Given the description of an element on the screen output the (x, y) to click on. 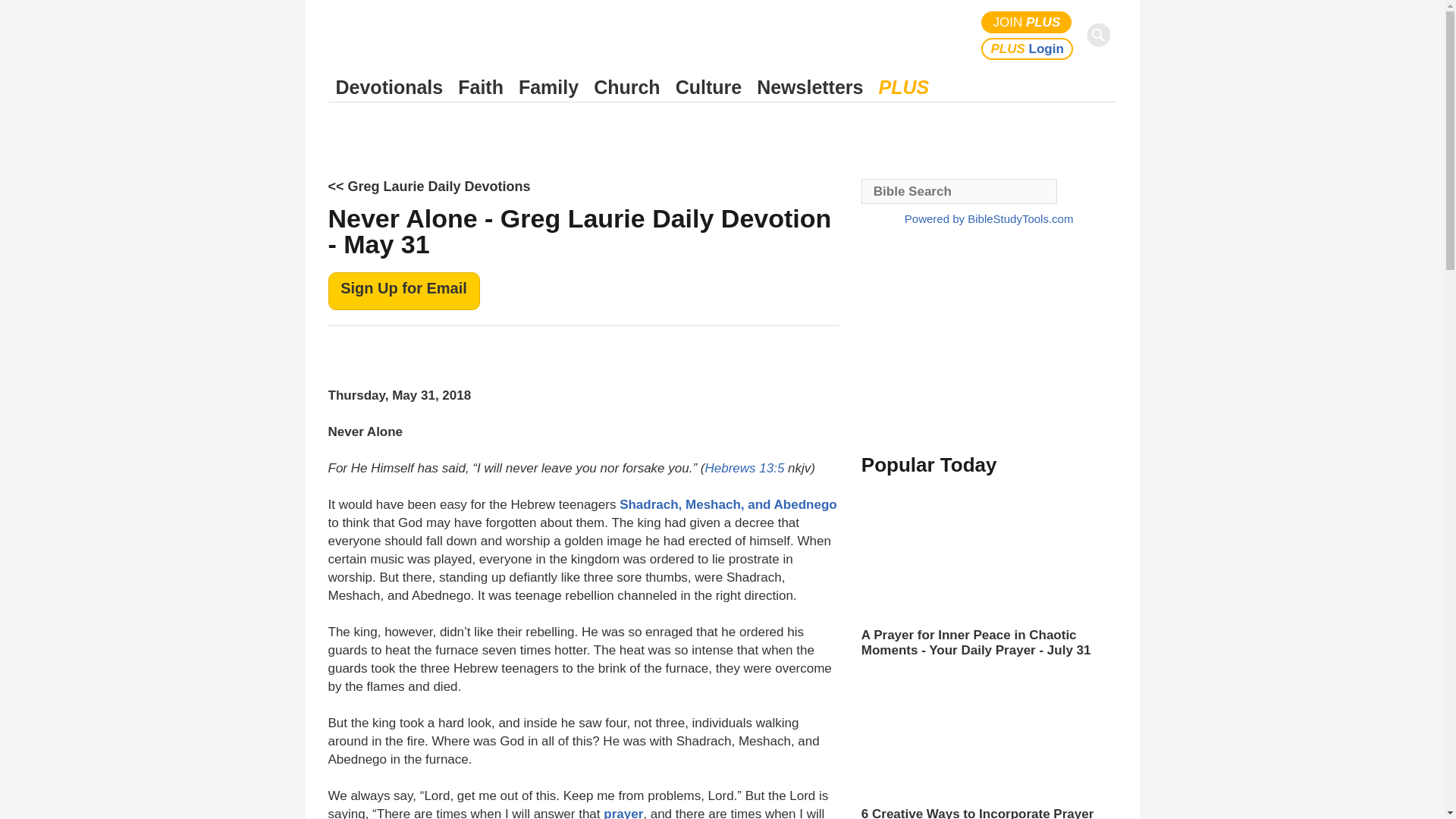
Plus Login (1026, 48)
Family (548, 87)
Search (1101, 34)
Join Plus (1026, 22)
Faith (481, 87)
PLUS Login (1026, 48)
JOIN PLUS (1026, 22)
Devotionals (389, 87)
